Given the description of an element on the screen output the (x, y) to click on. 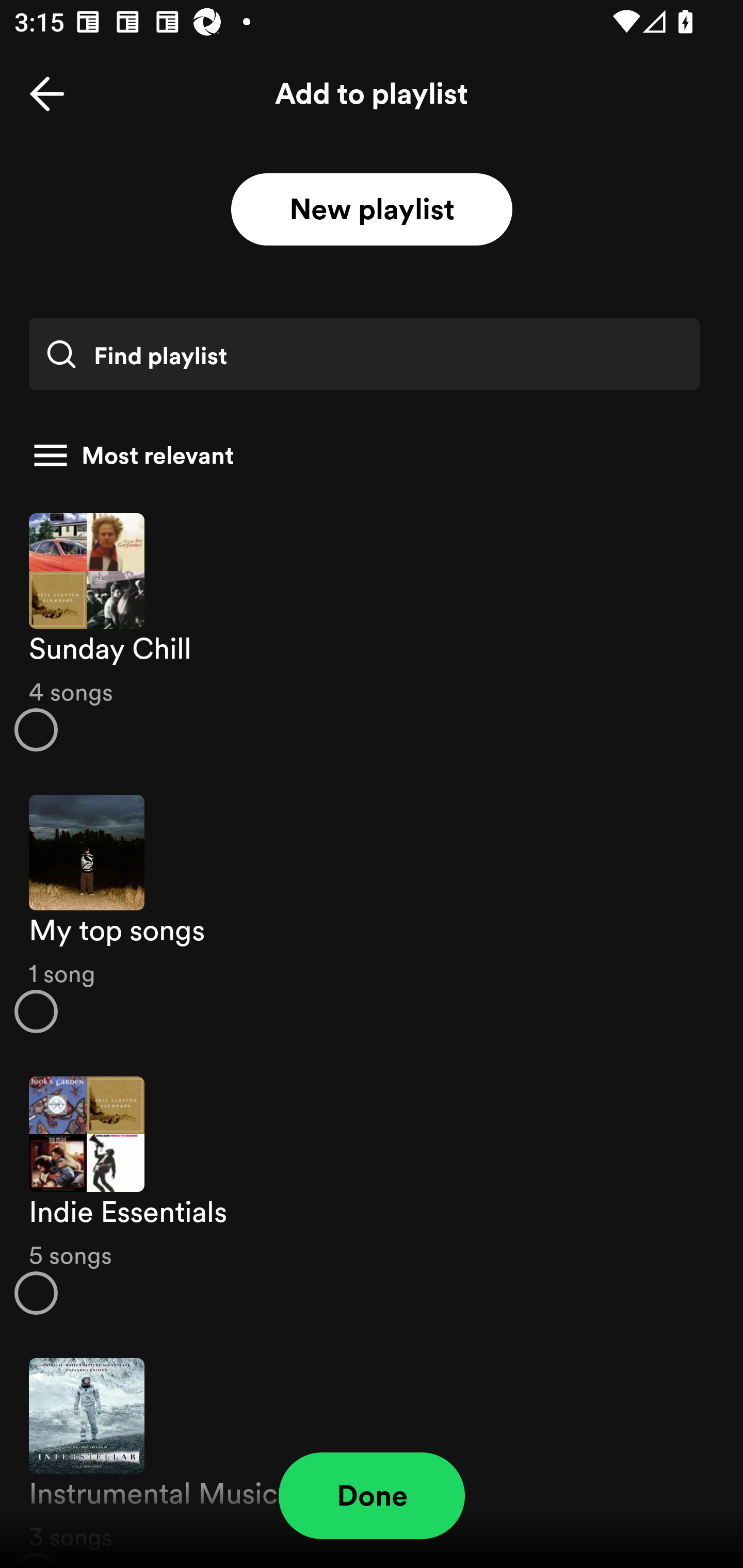
Back (46, 93)
New playlist (371, 210)
Find playlist (363, 354)
Most relevant (363, 455)
Sunday Chill 4 songs (371, 631)
My top songs 1 song (371, 914)
Indie Essentials 5 songs (371, 1195)
Instrumental Music 3 songs (371, 1451)
Done (371, 1495)
